Given the description of an element on the screen output the (x, y) to click on. 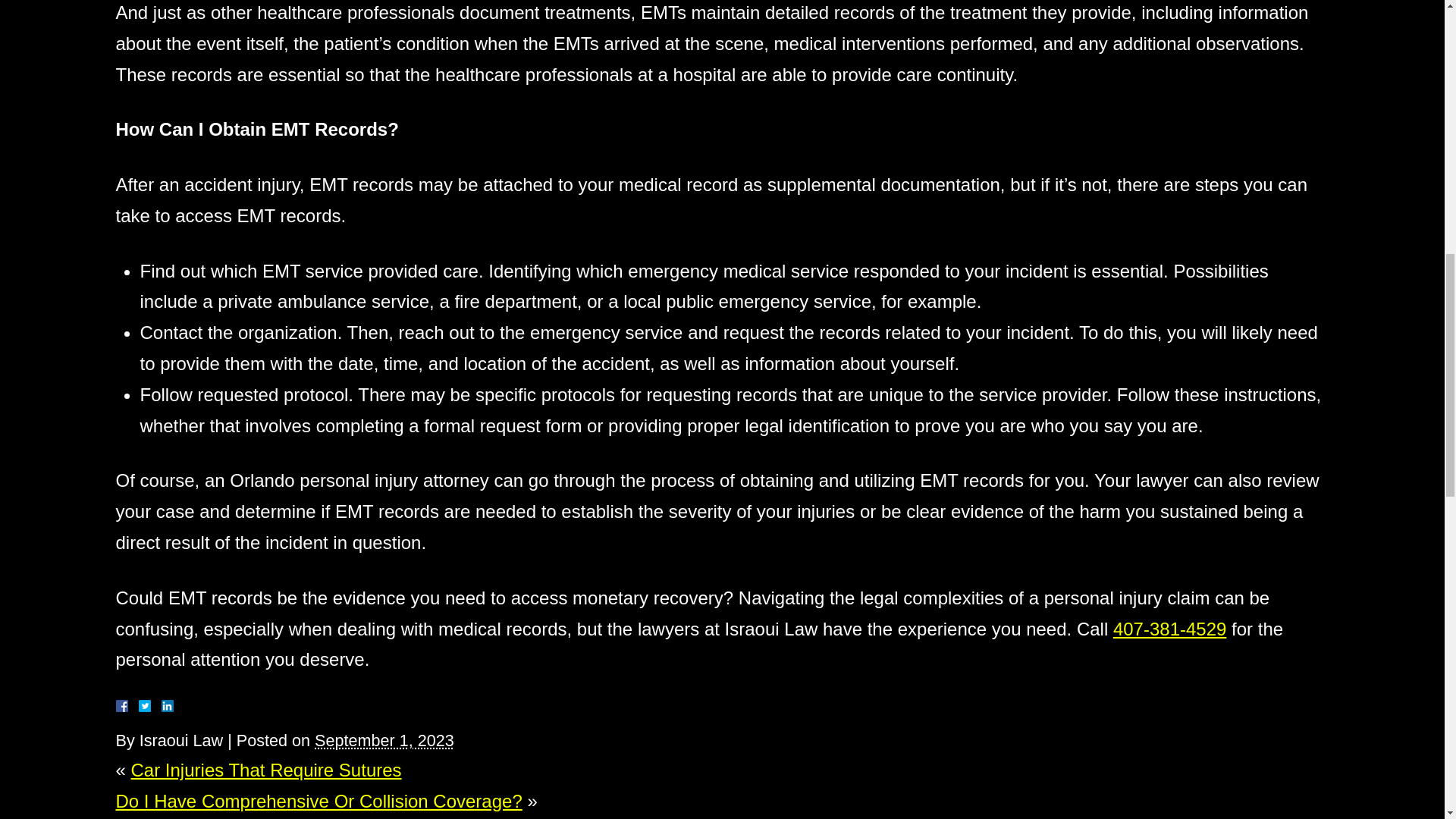
LinkedIn (160, 705)
2023-09-01T11:08:22-0700 (384, 740)
Twitter (149, 705)
Facebook (139, 705)
